Given the description of an element on the screen output the (x, y) to click on. 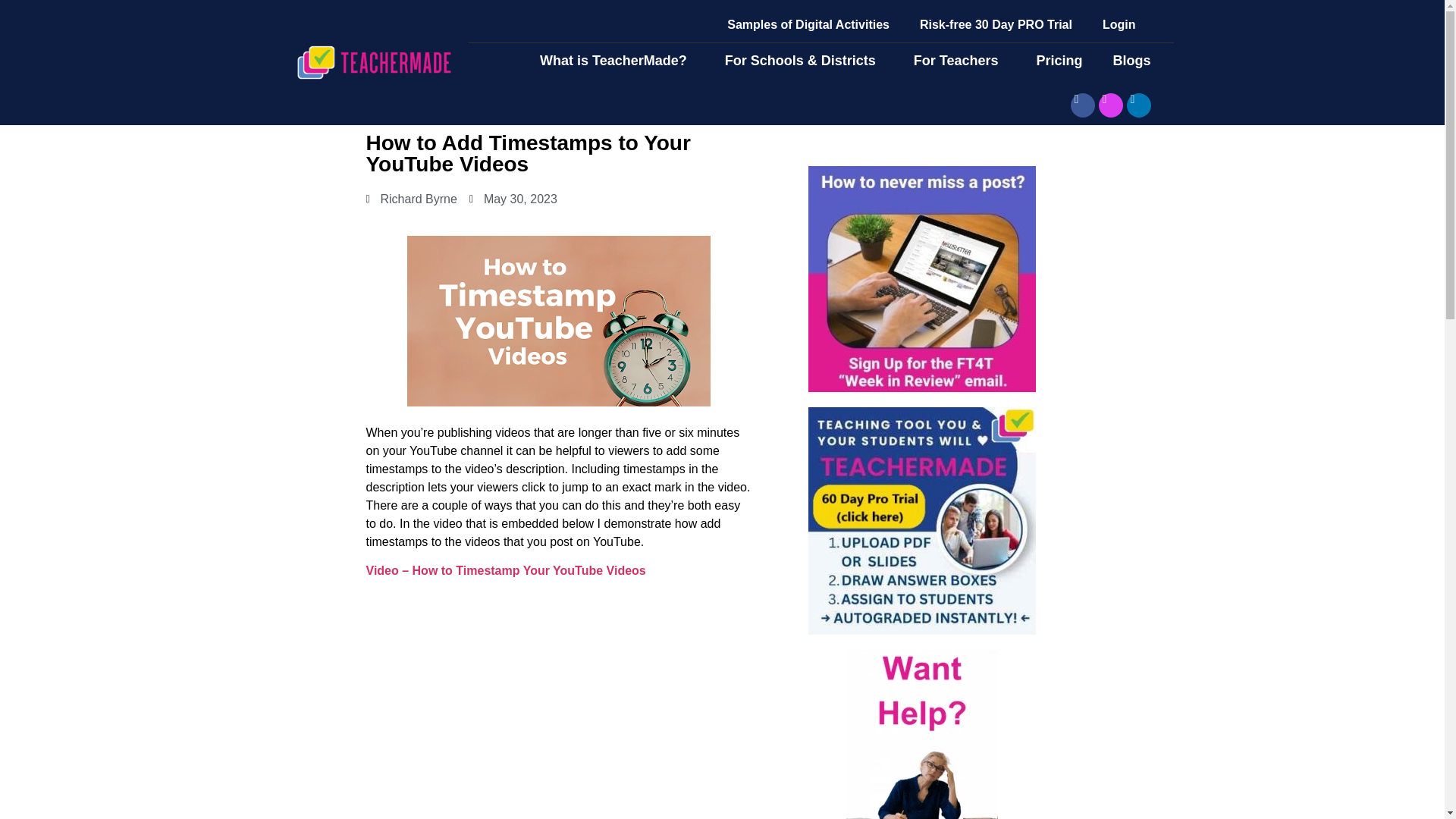
Pricing (1058, 60)
Risk-free 30 Day PRO Trial (995, 24)
Samples of Digital Activities (807, 24)
Login (1119, 24)
What is TeacherMade? (617, 60)
YouTube video player (558, 705)
For Teachers (960, 60)
Blogs (1135, 60)
